Given the description of an element on the screen output the (x, y) to click on. 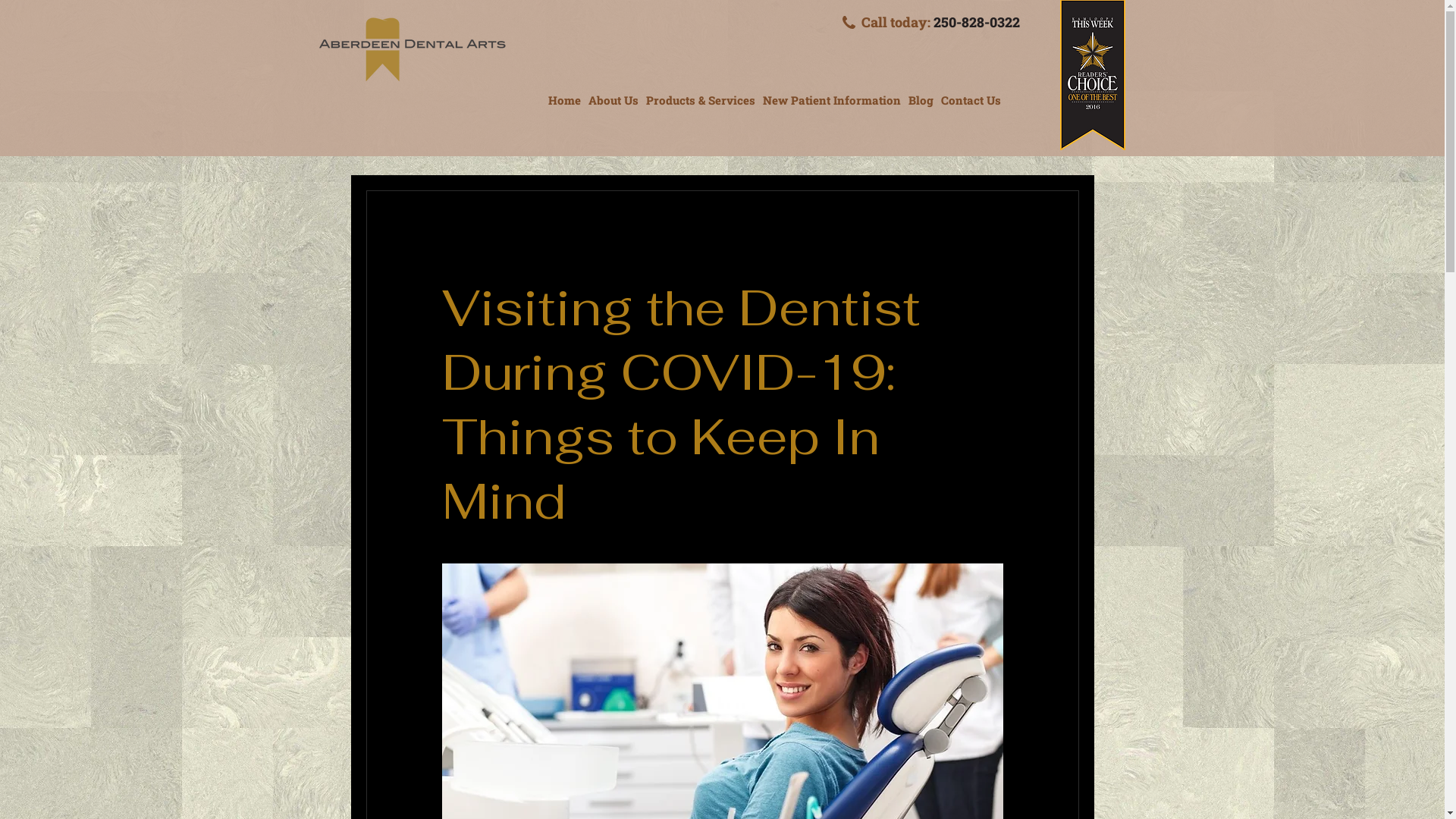
Home Element type: text (564, 100)
Products & Services Element type: text (700, 100)
About Us Element type: text (613, 100)
Contact Us Element type: text (970, 100)
250-828-0322 Element type: text (975, 21)
New Patient Information Element type: text (831, 100)
Blog Element type: text (920, 100)
